Given the description of an element on the screen output the (x, y) to click on. 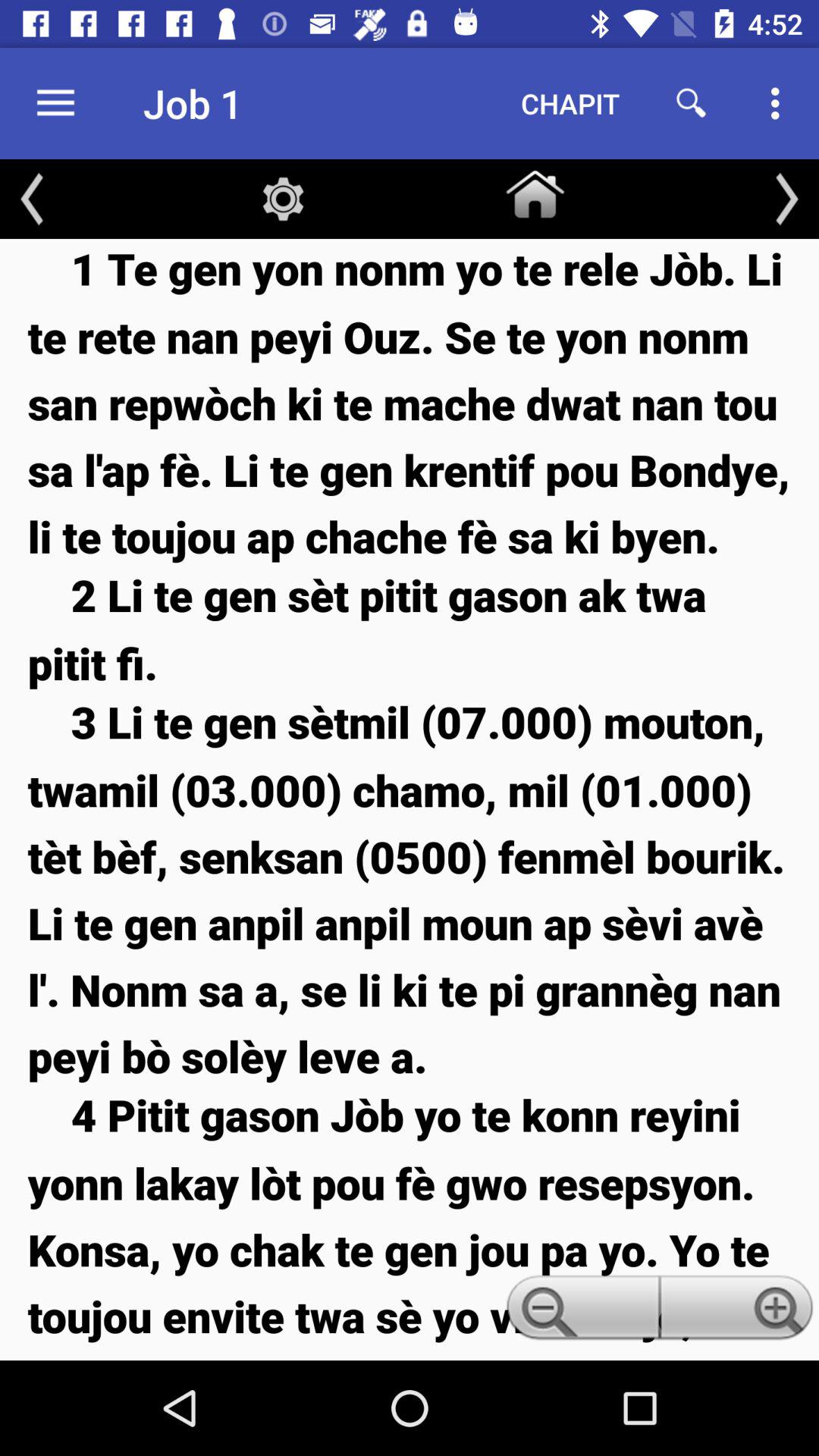
open item to the right of chapit (691, 103)
